Given the description of an element on the screen output the (x, y) to click on. 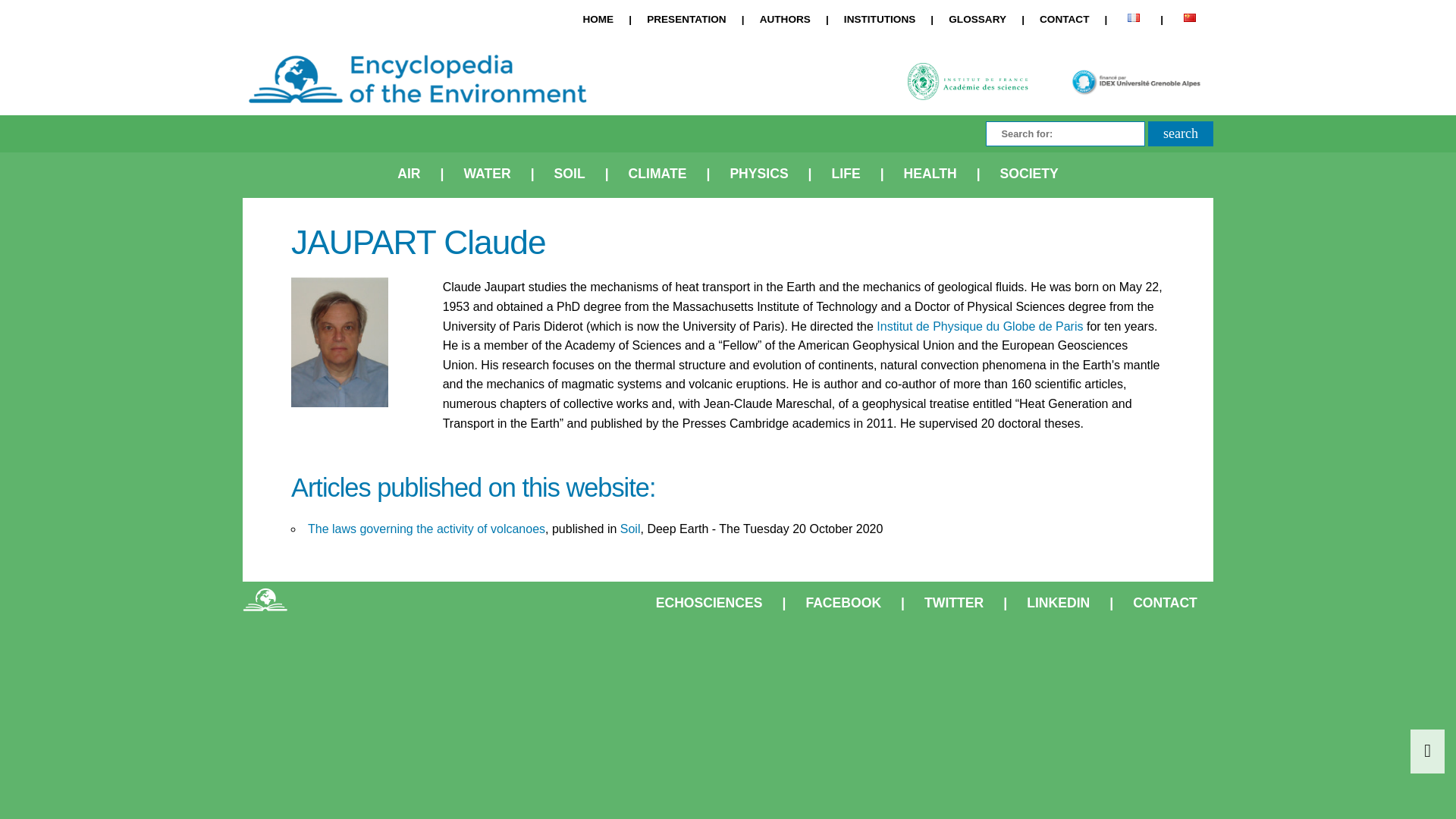
search (1180, 133)
FACEBOOK (842, 604)
search (1180, 133)
GLOSSARY (976, 21)
SOIL (568, 175)
LIFE (845, 175)
search (1180, 133)
AUTHORS (784, 21)
Soil (630, 528)
LINKEDIN (1057, 604)
